Given the description of an element on the screen output the (x, y) to click on. 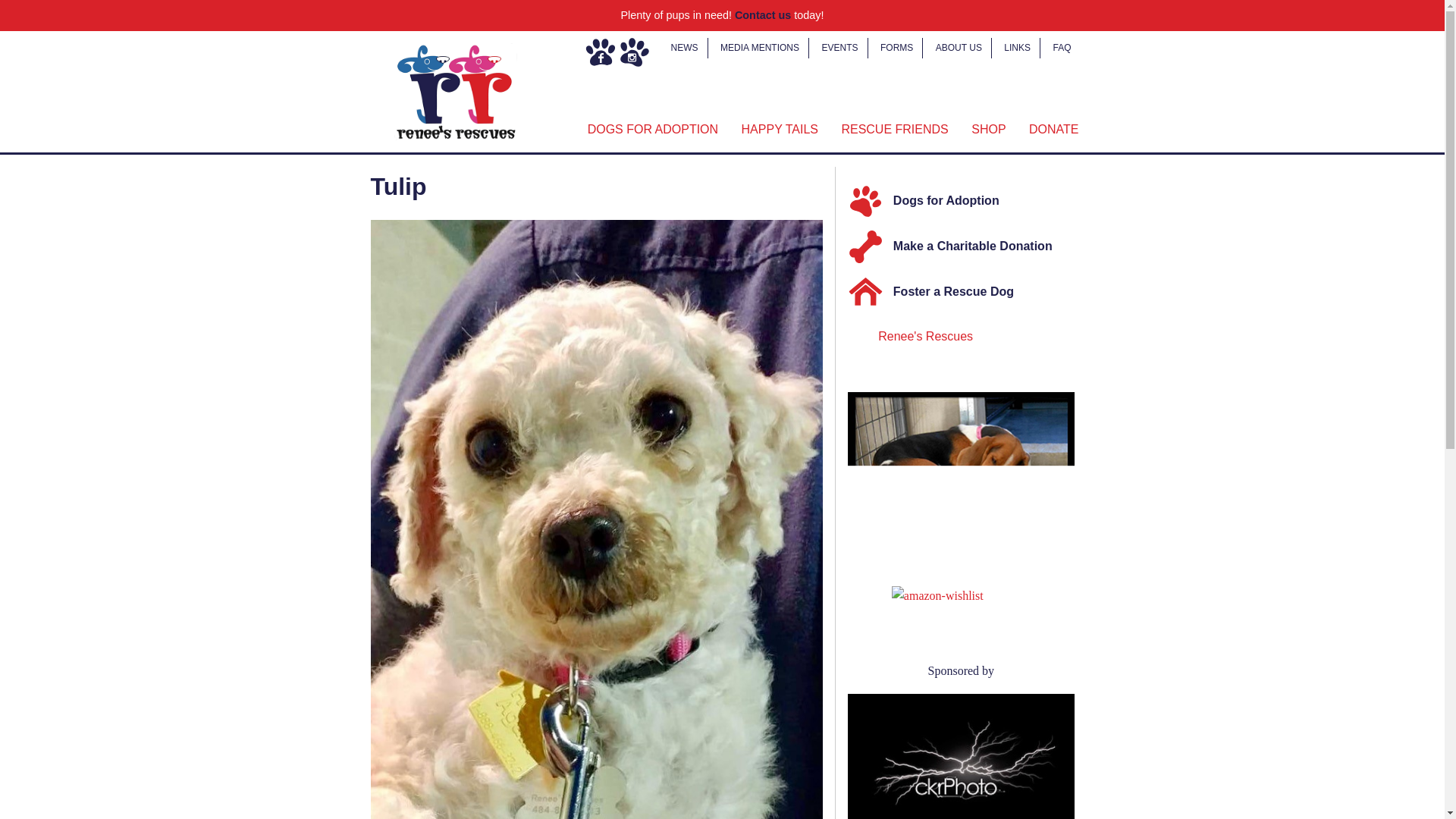
Renee's Rescues (924, 336)
LINKS (1016, 47)
Like us on Facebook (600, 51)
Make a Charitable Donation (966, 247)
Foster a Rescue Dog (966, 292)
Dogs for Adoption (966, 201)
MEDIA MENTIONS (759, 47)
DONATE (1053, 130)
HAPPY TAILS (779, 130)
ABOUT US (958, 47)
FAQ (1061, 47)
Follow us on Instagram (634, 51)
SHOP (988, 130)
RESCUE FRIENDS (894, 130)
NEWS (684, 47)
